Given the description of an element on the screen output the (x, y) to click on. 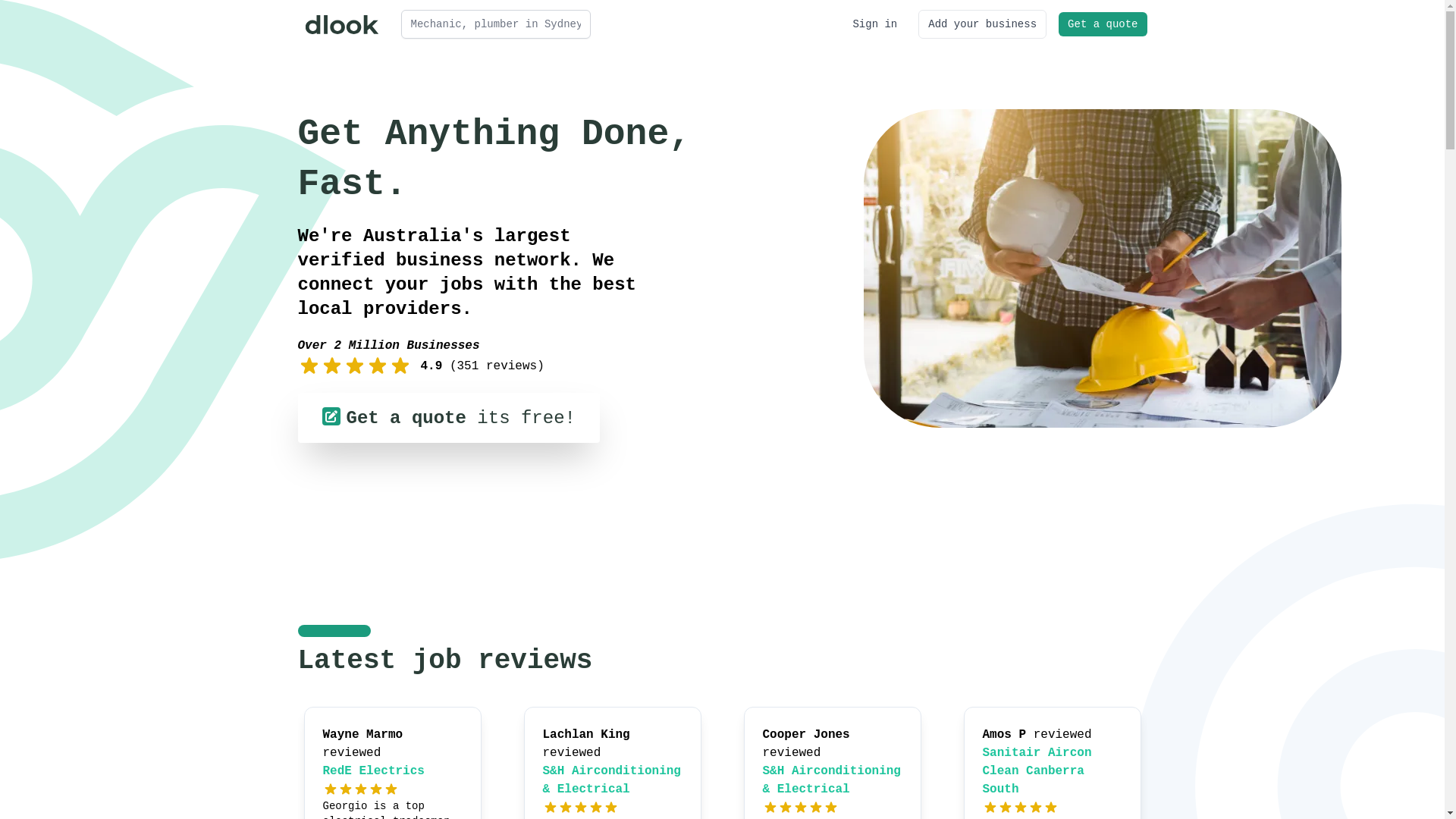
RedE Electrics Element type: text (373, 771)
Get a quote Element type: text (1102, 24)
Get a quote its free! Element type: text (448, 417)
Sign in Element type: text (874, 23)
Sanitair Aircon Clean Canberra South Element type: text (1037, 771)
S&H Airconditioning & Electrical Element type: text (611, 780)
Add your business Element type: text (982, 23)
S&H Airconditioning & Electrical Element type: text (831, 780)
